Given the description of an element on the screen output the (x, y) to click on. 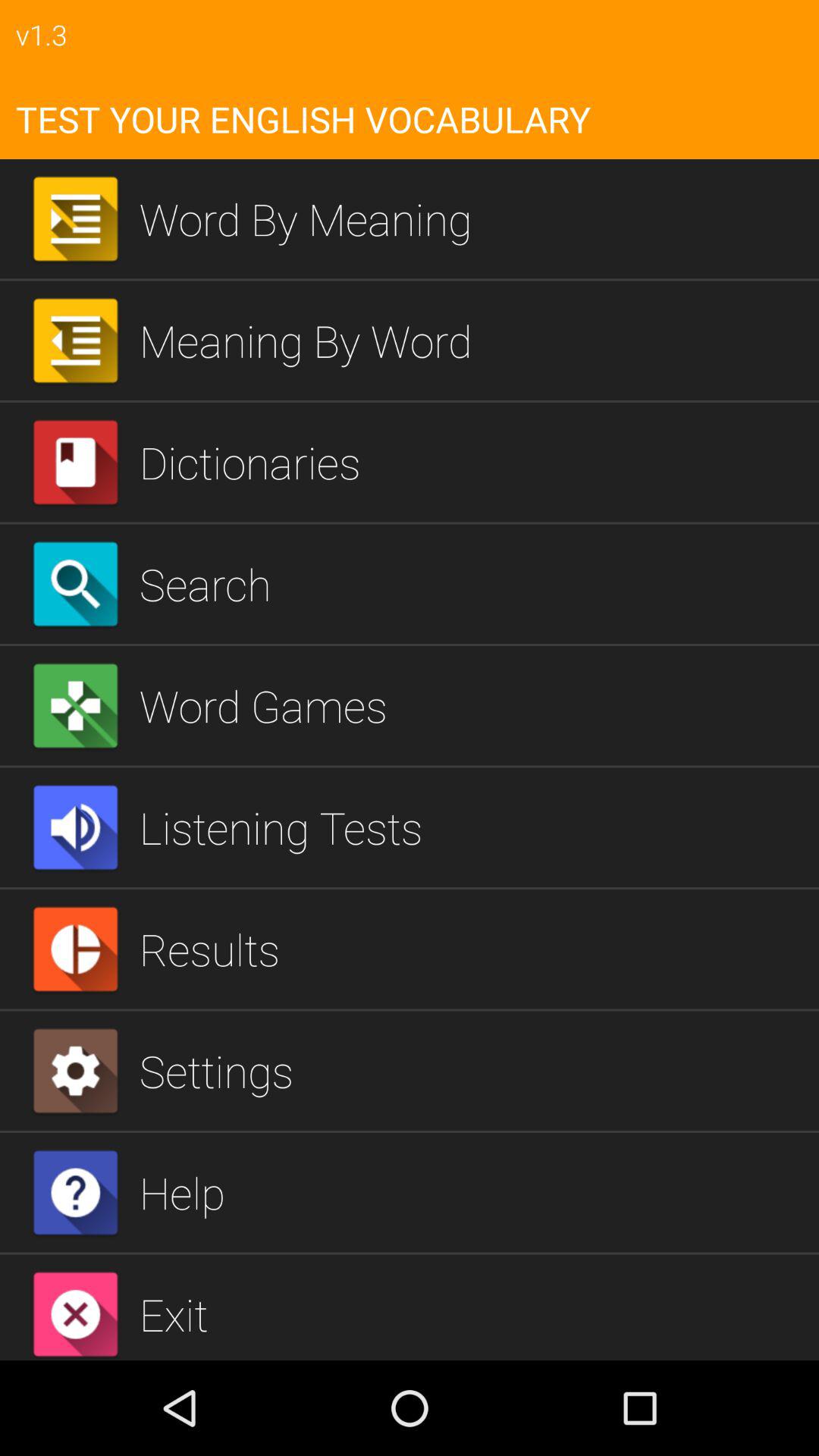
select the settings item (473, 1070)
